Given the description of an element on the screen output the (x, y) to click on. 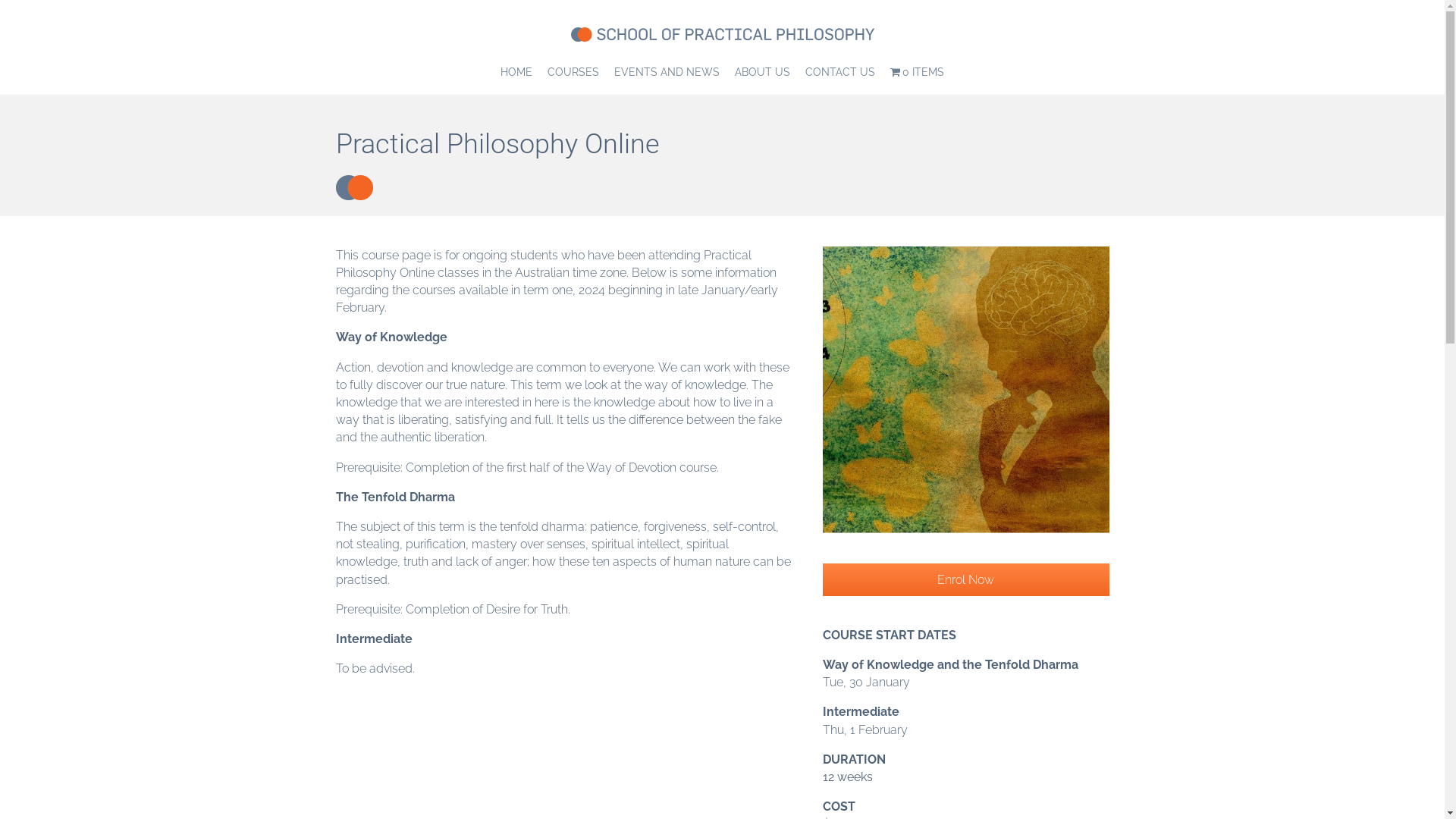
HOME Element type: text (515, 71)
ABOUT US Element type: text (762, 71)
school-of-practical-philosophy-400 Element type: hover (721, 33)
EVENTS AND NEWS Element type: text (666, 71)
CONTACT US Element type: text (839, 71)
Enrol Now Element type: text (965, 579)
0 ITEMS Element type: text (917, 71)
circle-slate-energy Element type: hover (353, 187)
Philosophy online Element type: hover (965, 389)
COURSES Element type: text (572, 71)
